Given the description of an element on the screen output the (x, y) to click on. 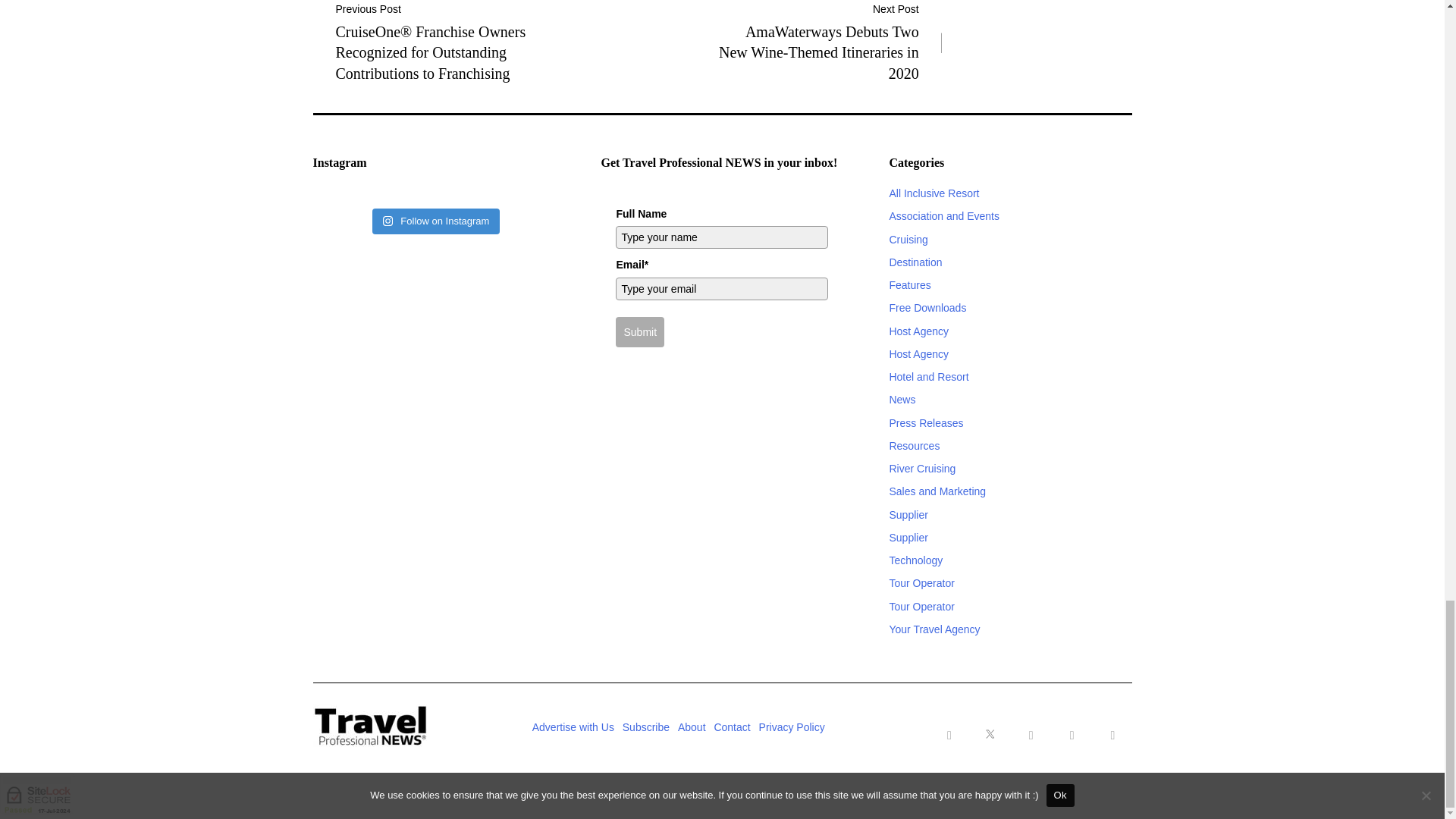
SiteLock (37, 793)
